Given the description of an element on the screen output the (x, y) to click on. 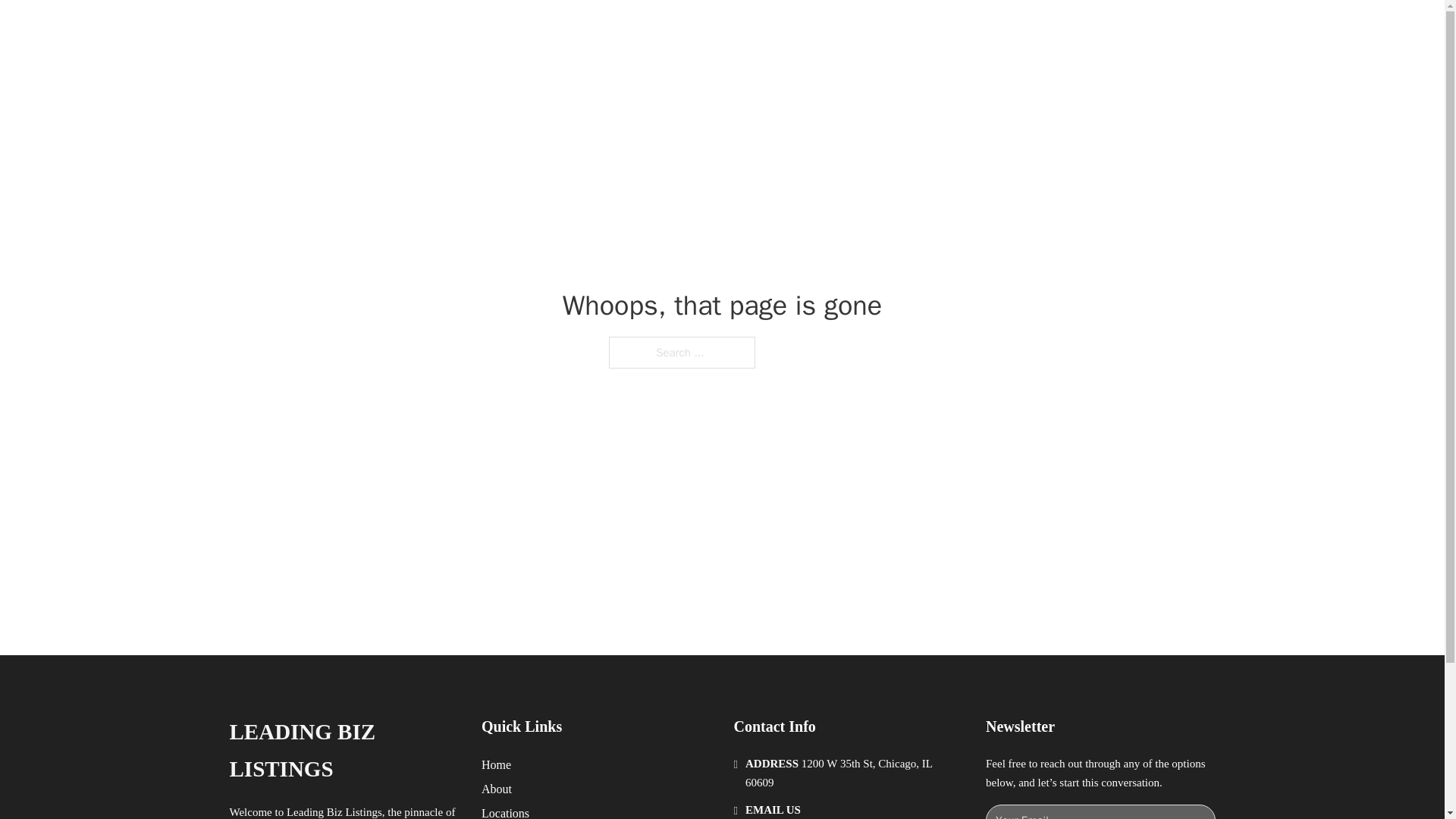
Locations (505, 811)
HOME (919, 29)
LOCATIONS (990, 29)
LEADING BIZ LISTINGS (343, 750)
LEADING BIZ LISTINGS (422, 28)
Home (496, 764)
About (496, 788)
